Given the description of an element on the screen output the (x, y) to click on. 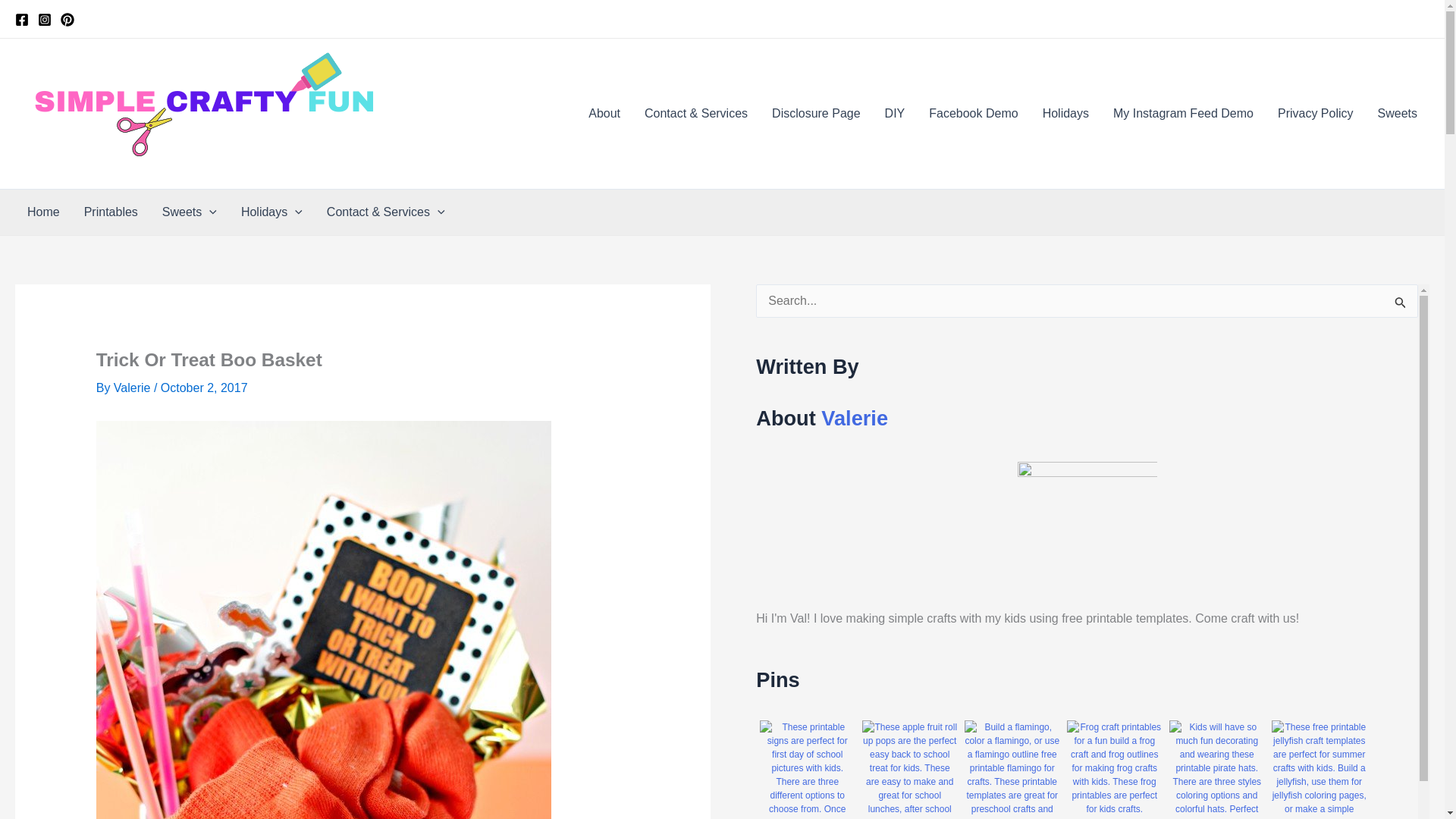
My Instagram Feed Demo (1182, 113)
Facebook Demo (973, 113)
Sweets (188, 212)
Holidays (1065, 113)
Sweets (1397, 113)
Privacy Policy (1315, 113)
About (603, 113)
Home (42, 212)
View all posts by Valerie (133, 387)
Disclosure Page (816, 113)
